Given the description of an element on the screen output the (x, y) to click on. 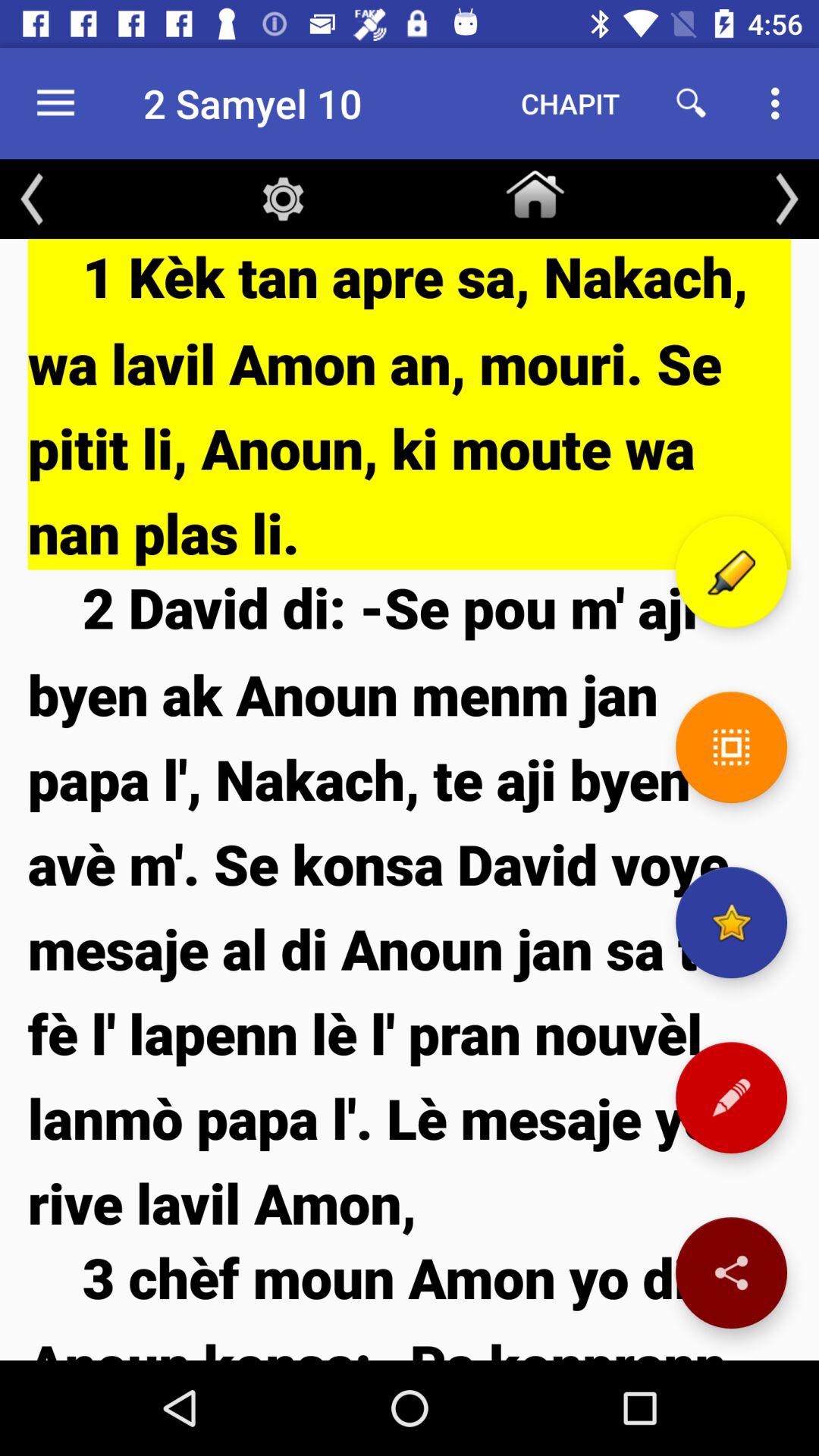
turn on the chapit item (570, 103)
